Given the description of an element on the screen output the (x, y) to click on. 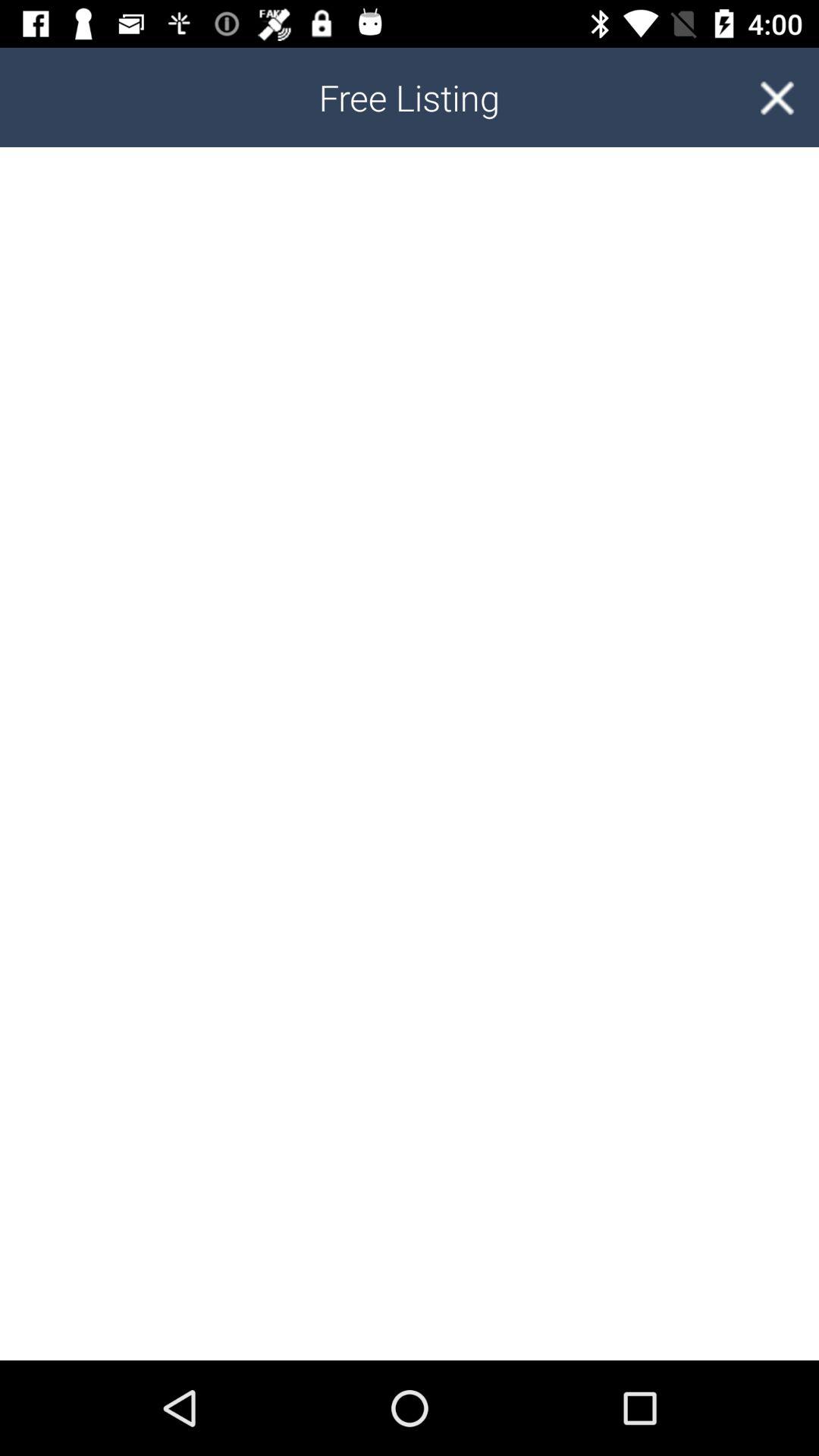
select the icon to the right of the free listing item (776, 97)
